Given the description of an element on the screen output the (x, y) to click on. 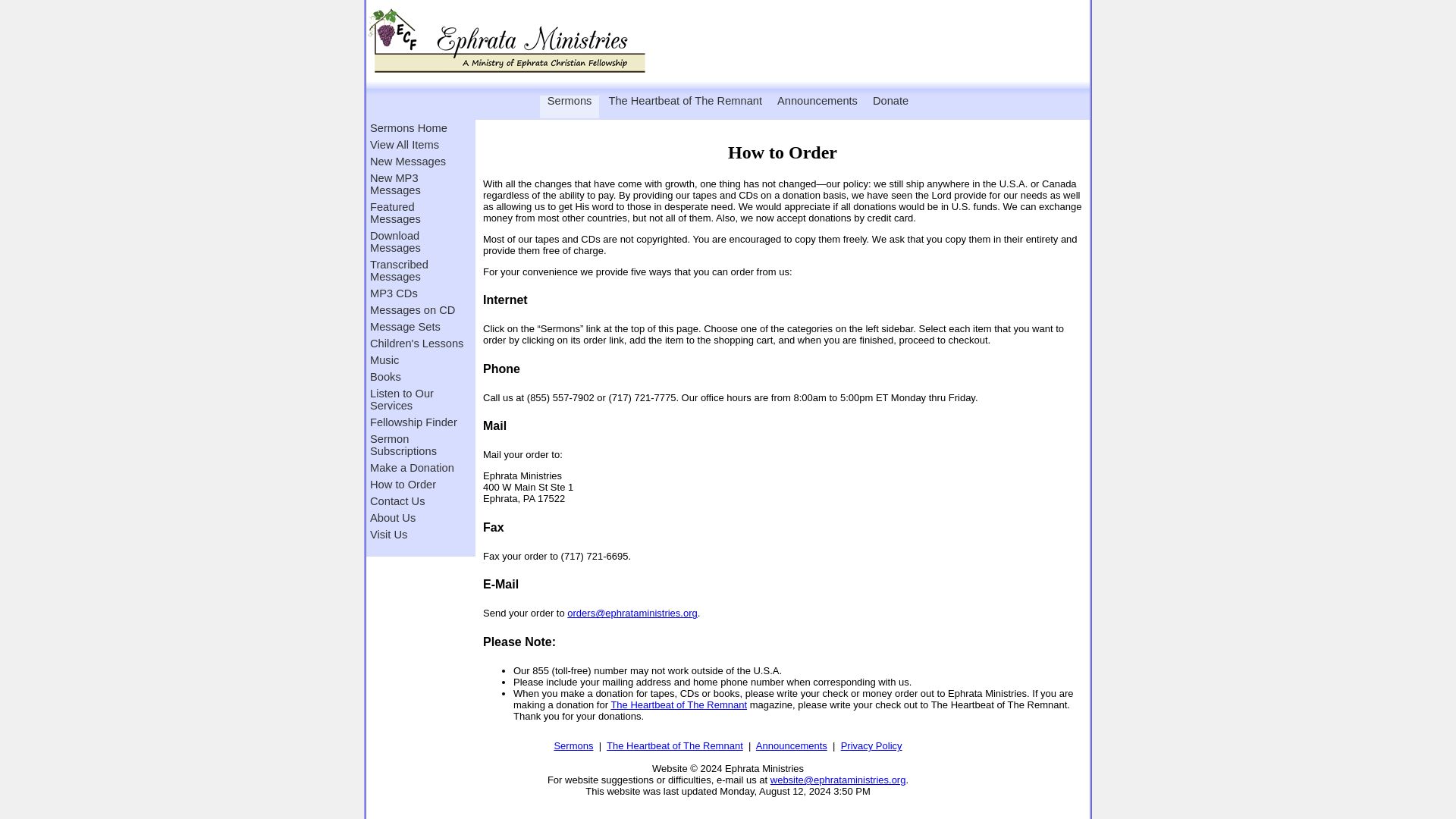
Visit Us (417, 534)
Donate (889, 99)
Featured Messages (417, 212)
Sermons (569, 99)
Sermons Home (417, 127)
Transcribed Messages (417, 270)
Make a Donation (417, 467)
About Us (417, 517)
Fellowship Finder (417, 421)
Sermon Subscriptions (417, 444)
